Given the description of an element on the screen output the (x, y) to click on. 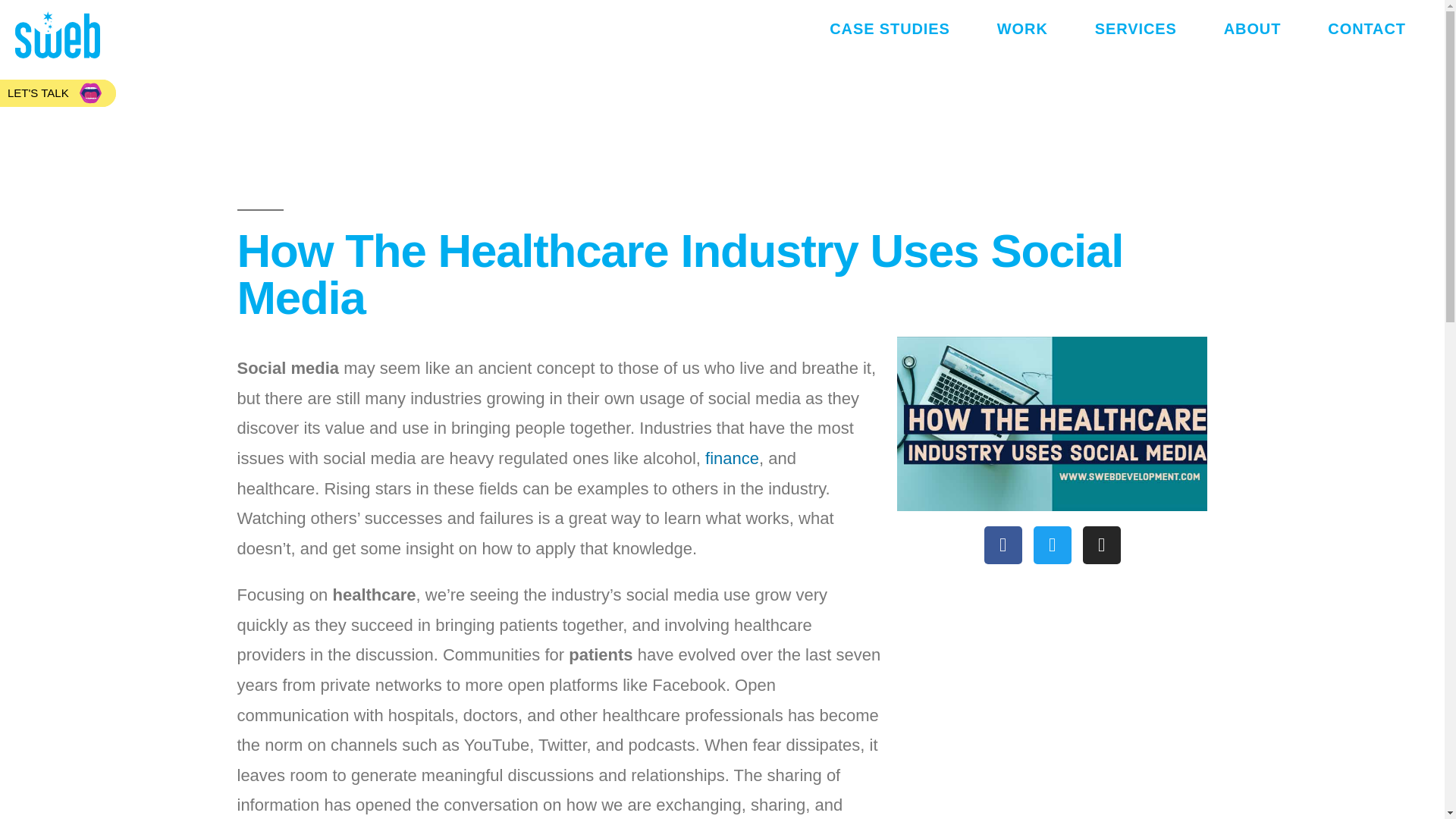
finance (731, 457)
LET'S TALK (58, 93)
WORK (1022, 28)
CASE STUDIES (890, 28)
CONTACT (1366, 28)
SERVICES (1135, 28)
ABOUT (1251, 28)
Sweb-logo-footer (57, 34)
